Given the description of an element on the screen output the (x, y) to click on. 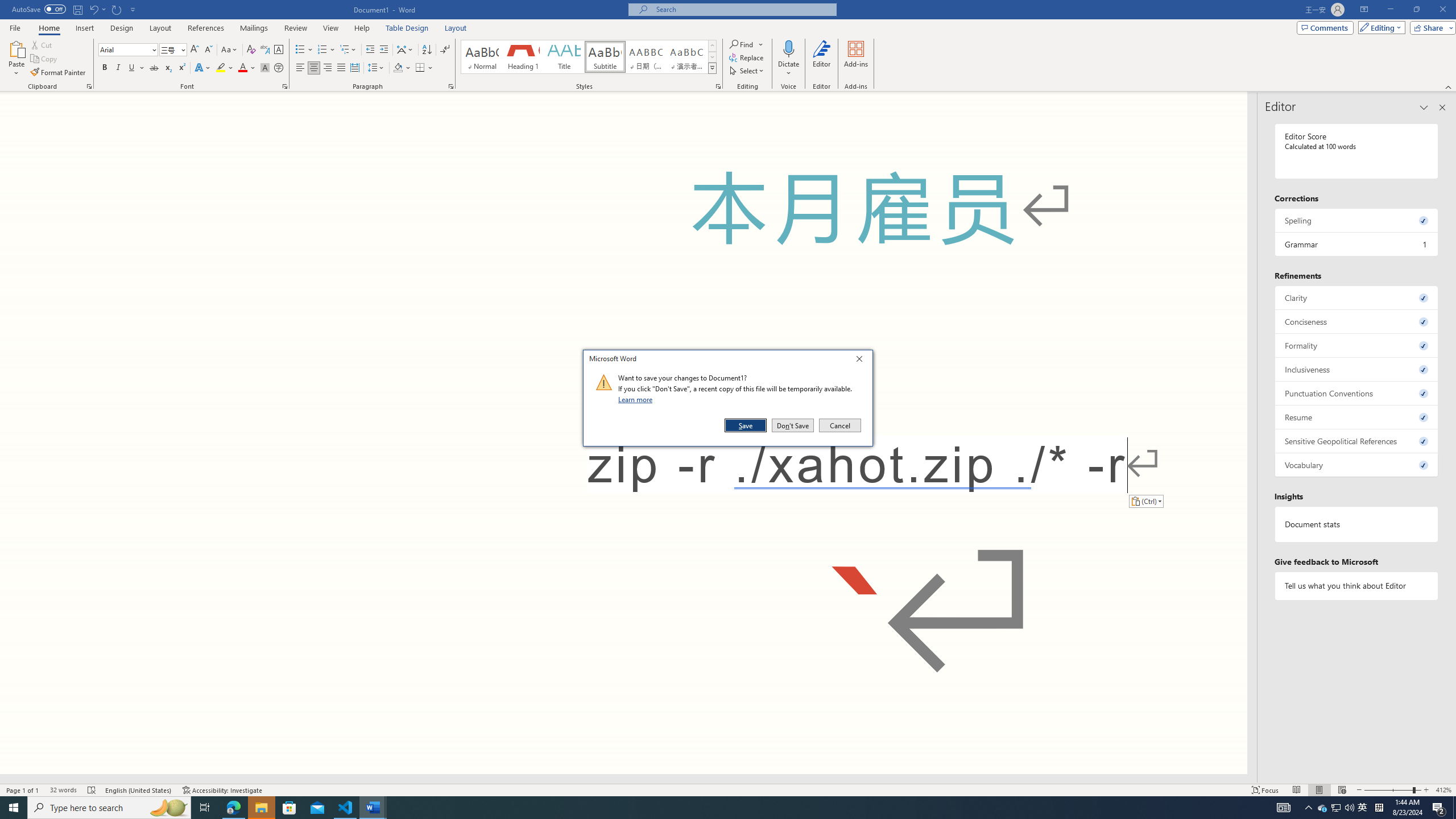
Tell us what you think about Editor (1356, 586)
Word Count 32 words (63, 790)
Conciseness, 0 issues. Press space or enter to review items. (1356, 321)
